Given the description of an element on the screen output the (x, y) to click on. 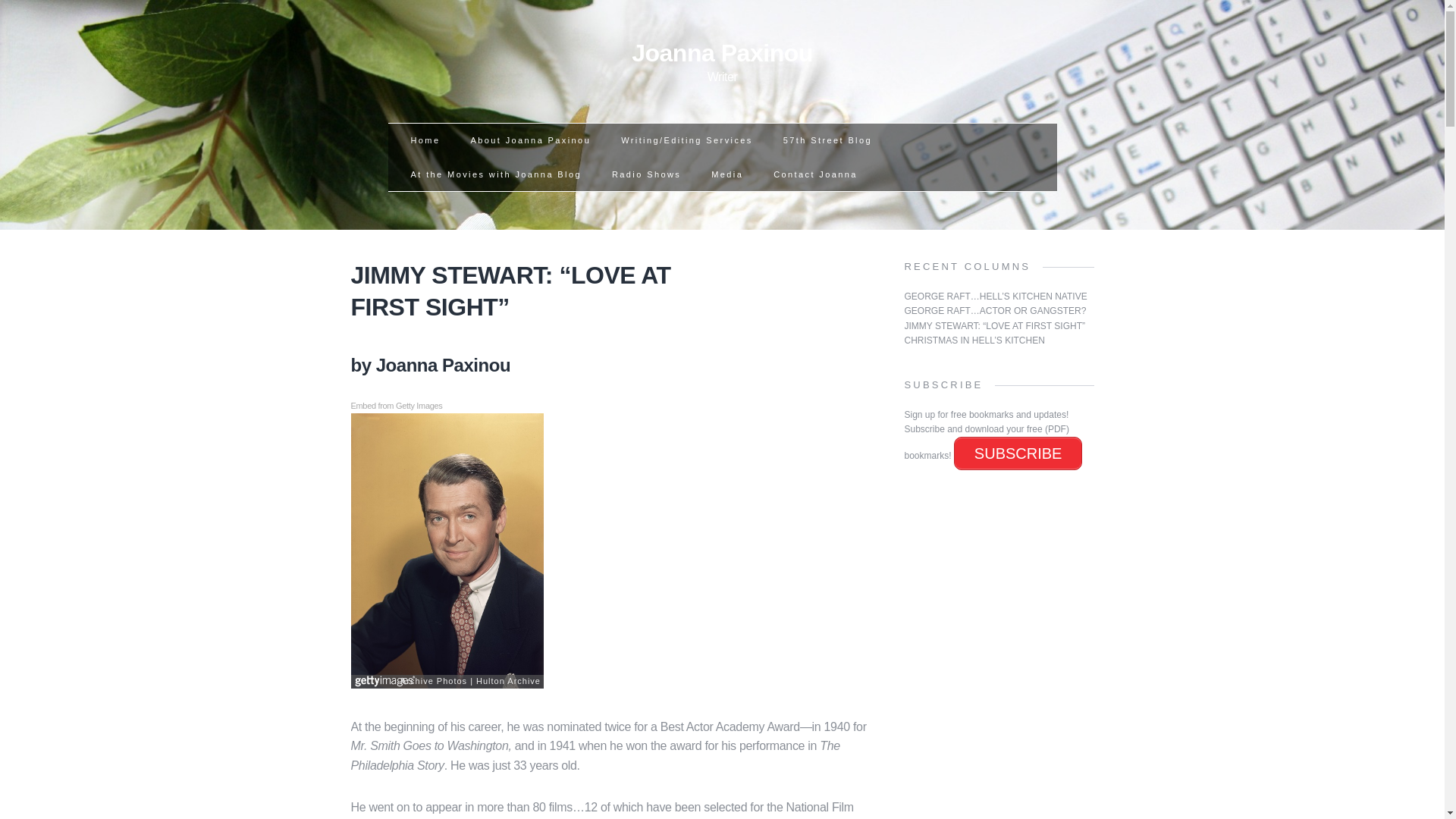
Contact Joanna (721, 61)
Joanna Paxinou (814, 174)
About Joanna Paxinou (721, 61)
Home (530, 140)
57th Street Blog (425, 140)
Radio Shows (827, 140)
Media (646, 174)
At the Movies with Joanna Blog (727, 174)
Embed from Getty Images (496, 174)
